Given the description of an element on the screen output the (x, y) to click on. 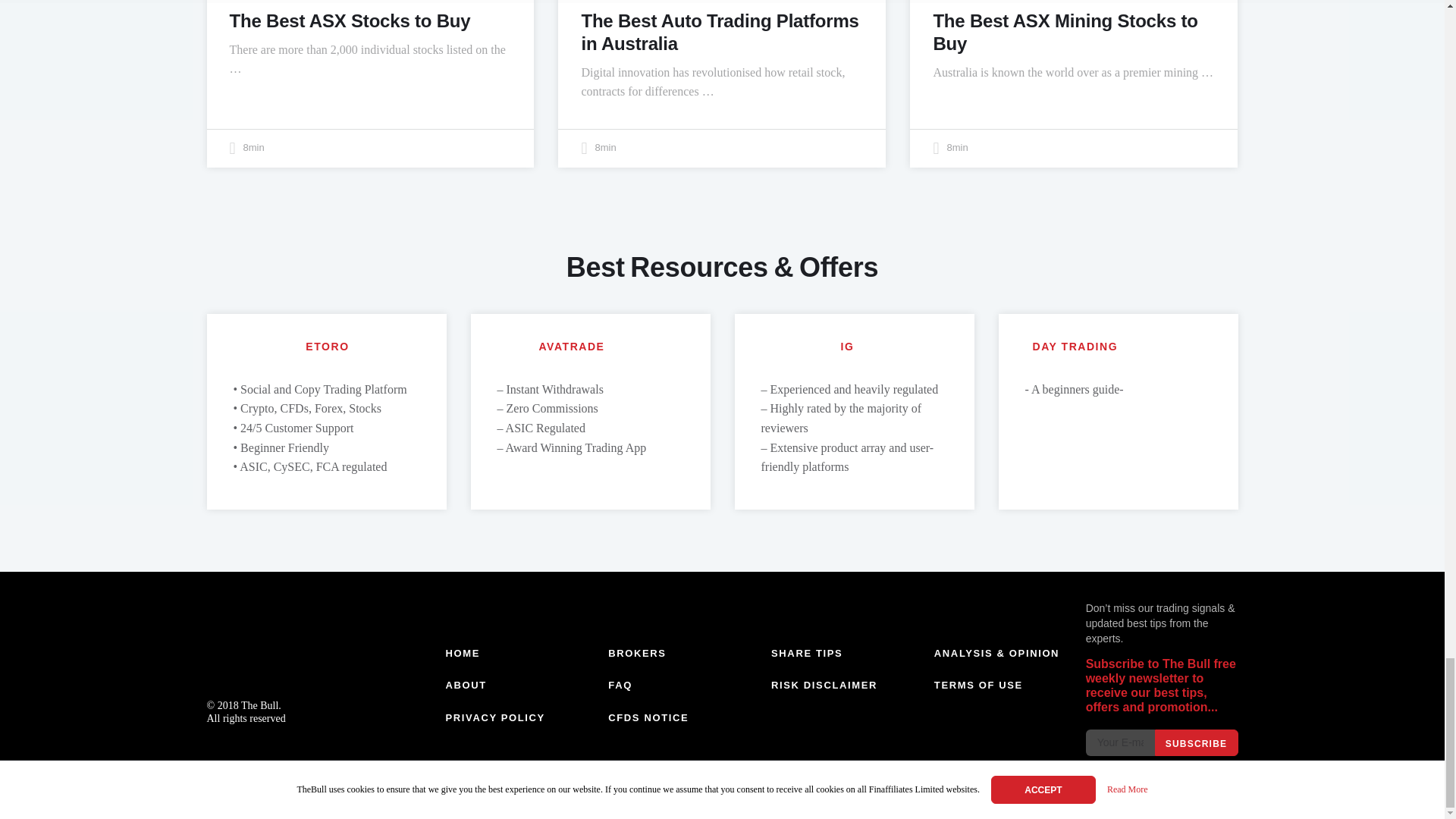
Subscribe (1195, 742)
The Best Auto Trading Platforms in Australia (719, 31)
The Best ASX Stocks to Buy (349, 19)
